Given the description of an element on the screen output the (x, y) to click on. 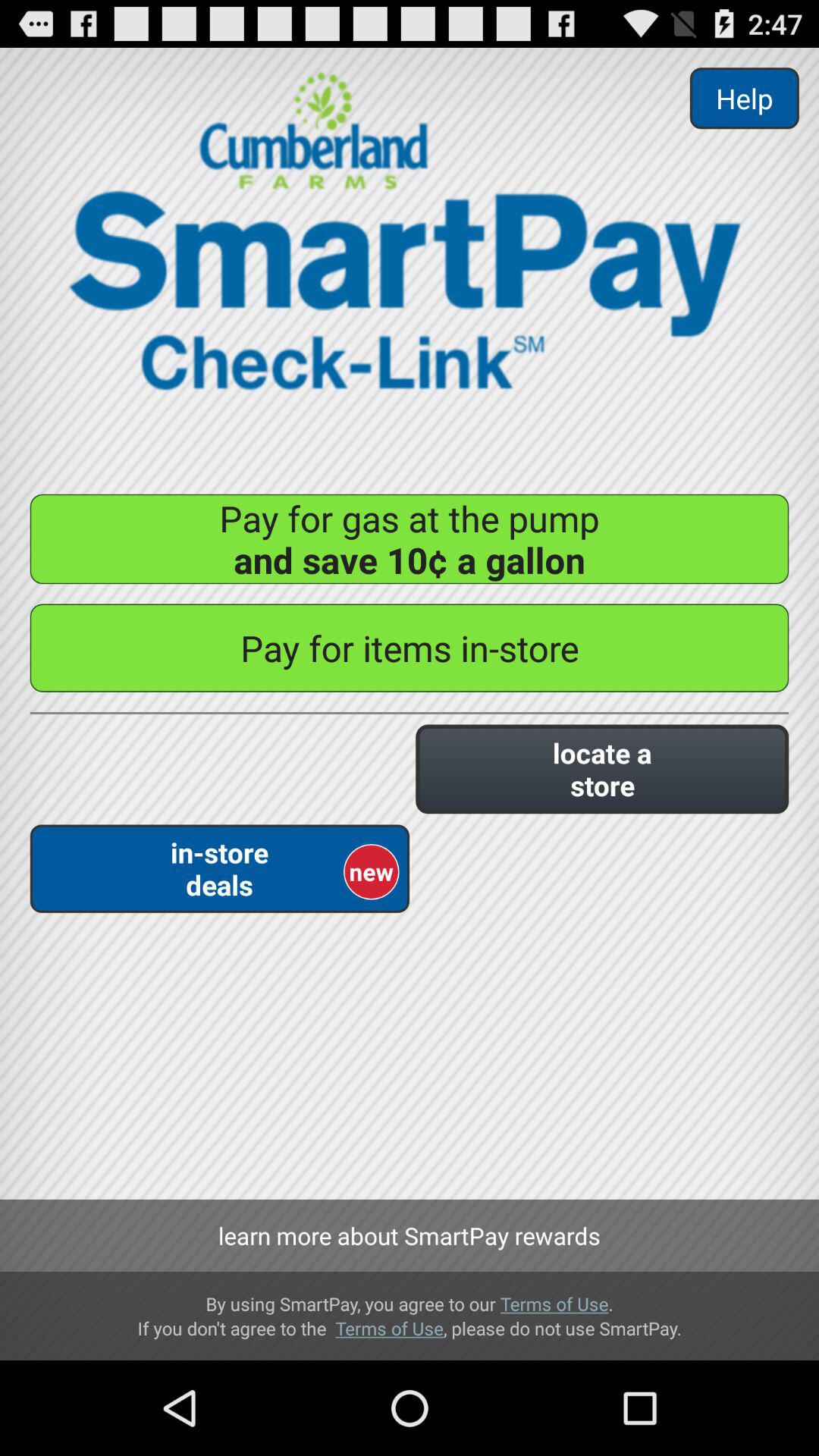
tap item at the top right corner (744, 98)
